Given the description of an element on the screen output the (x, y) to click on. 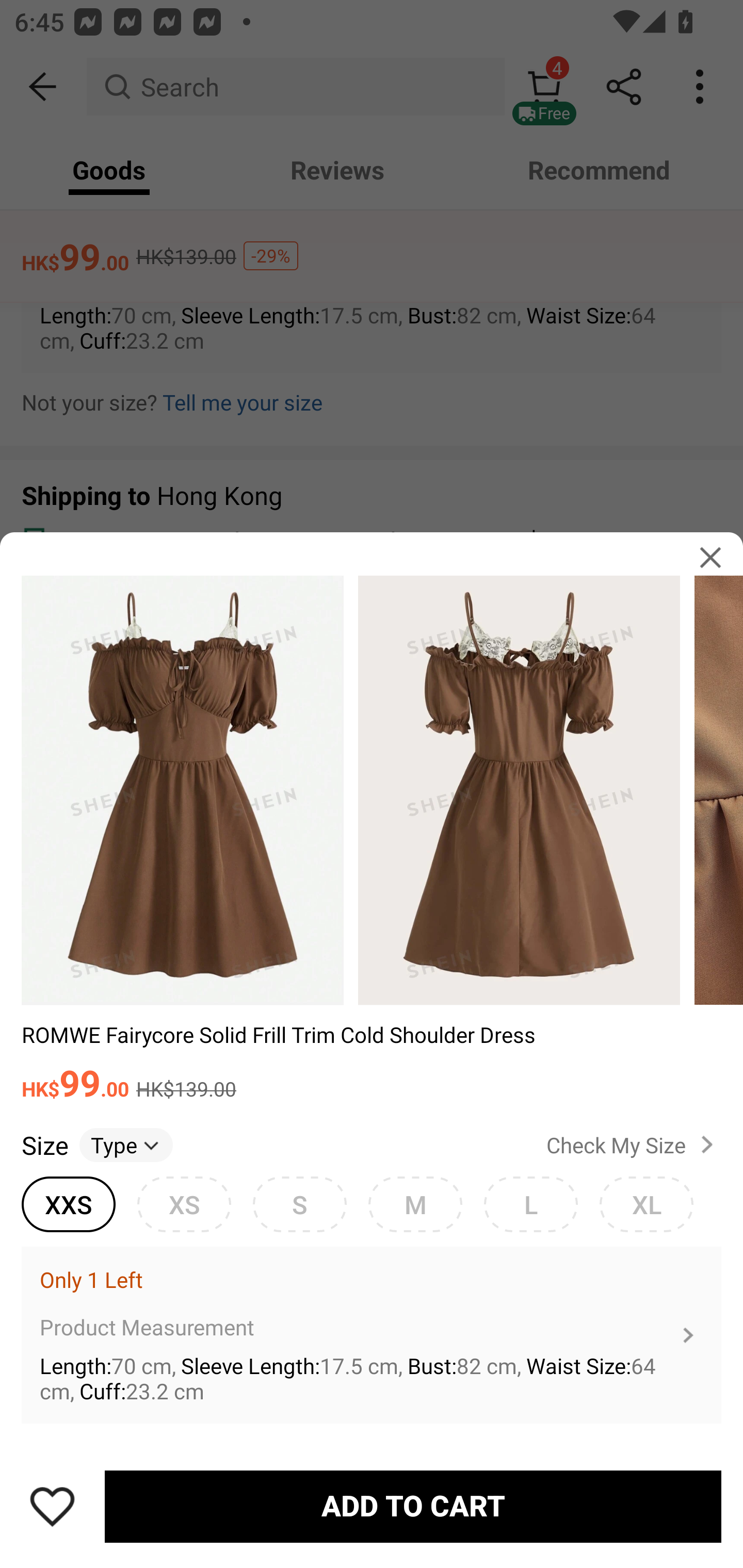
Size (44, 1144)
Type (126, 1144)
Check My Size (633, 1144)
XXS XSselected option (68, 1204)
XS S (184, 1204)
S M (299, 1204)
M L (415, 1204)
L XL (530, 1204)
XL (646, 1204)
ADD TO CART (412, 1506)
Save (52, 1505)
